Given the description of an element on the screen output the (x, y) to click on. 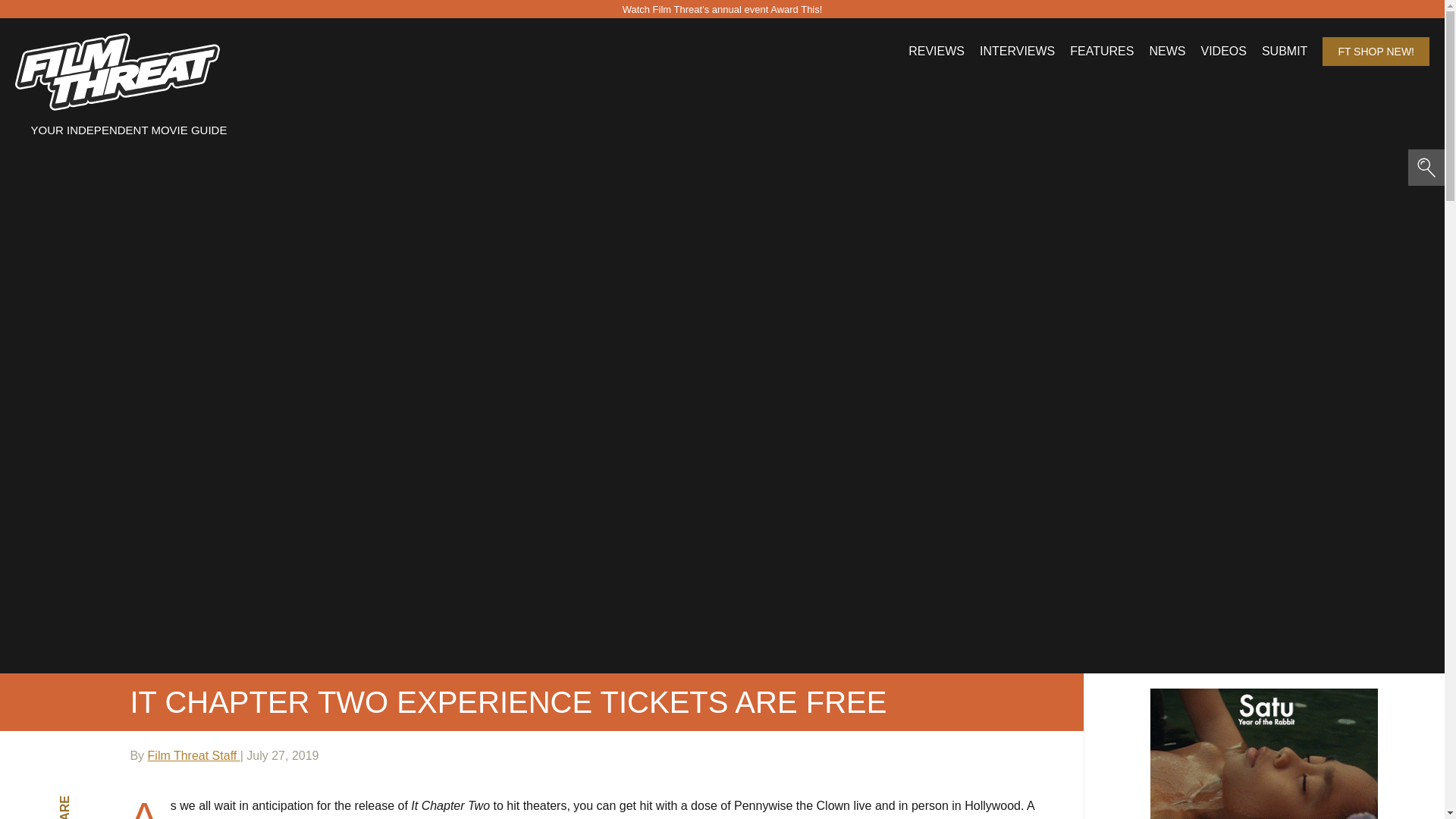
VIDEOS (1222, 51)
FEATURES (1102, 51)
NEWS (1166, 51)
REVIEWS (935, 51)
Film Threat Staff (194, 755)
INTERVIEWS (1016, 51)
Search (152, 24)
FT SHOP NEW! (1375, 51)
SUBMIT (1284, 51)
